Given the description of an element on the screen output the (x, y) to click on. 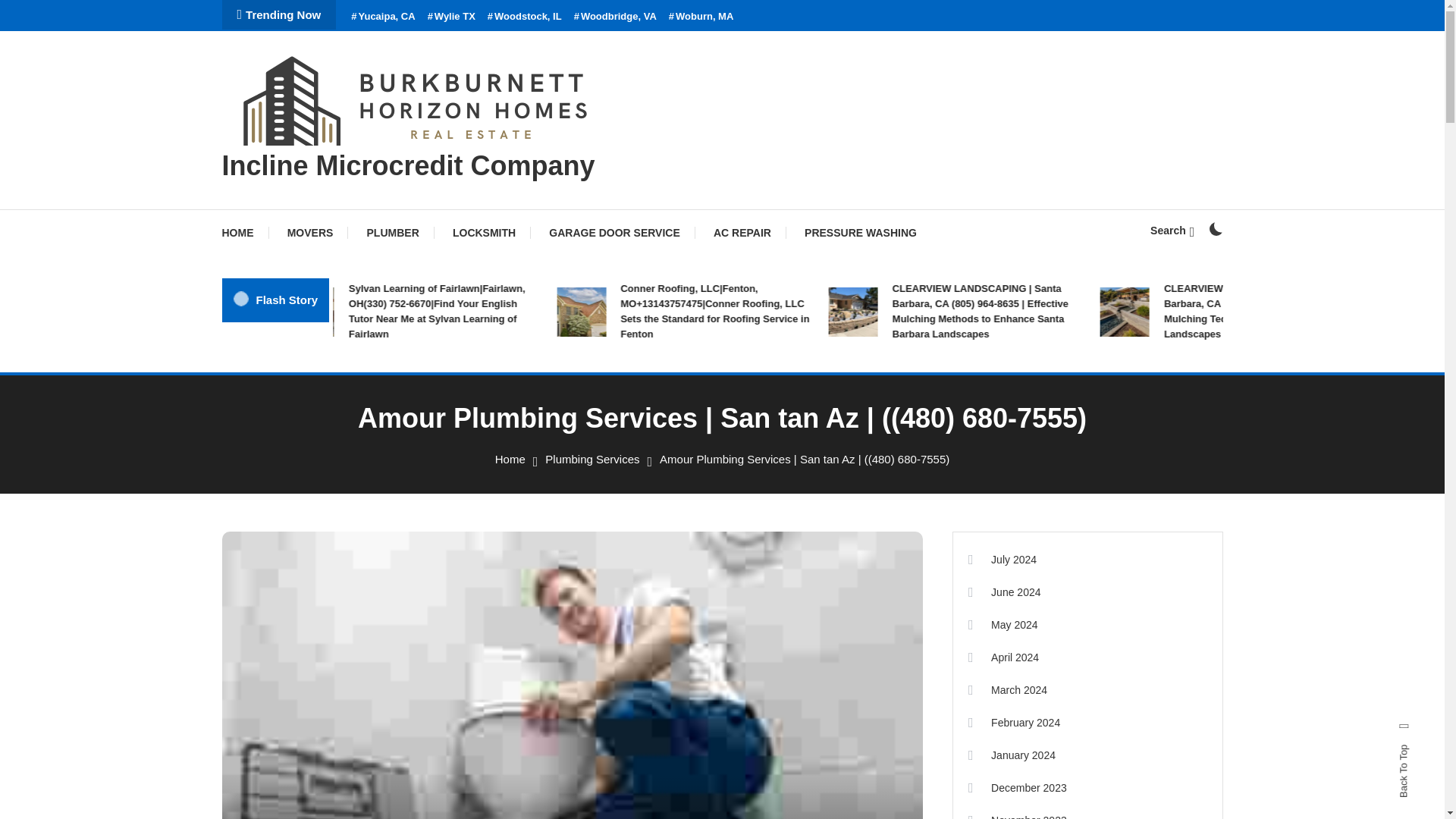
Yucaipa, CA (382, 16)
AC REPAIR (742, 232)
Plumbing Services (591, 459)
PRESSURE WASHING (860, 232)
HOME (244, 232)
LOCKSMITH (484, 232)
Home (510, 459)
Incline Microcredit Company (407, 164)
on (1215, 228)
GARAGE DOOR SERVICE (614, 232)
PLUMBER (392, 232)
Wylie TX (452, 16)
Woodstock, IL (524, 16)
Search (1171, 230)
Search (768, 434)
